Given the description of an element on the screen output the (x, y) to click on. 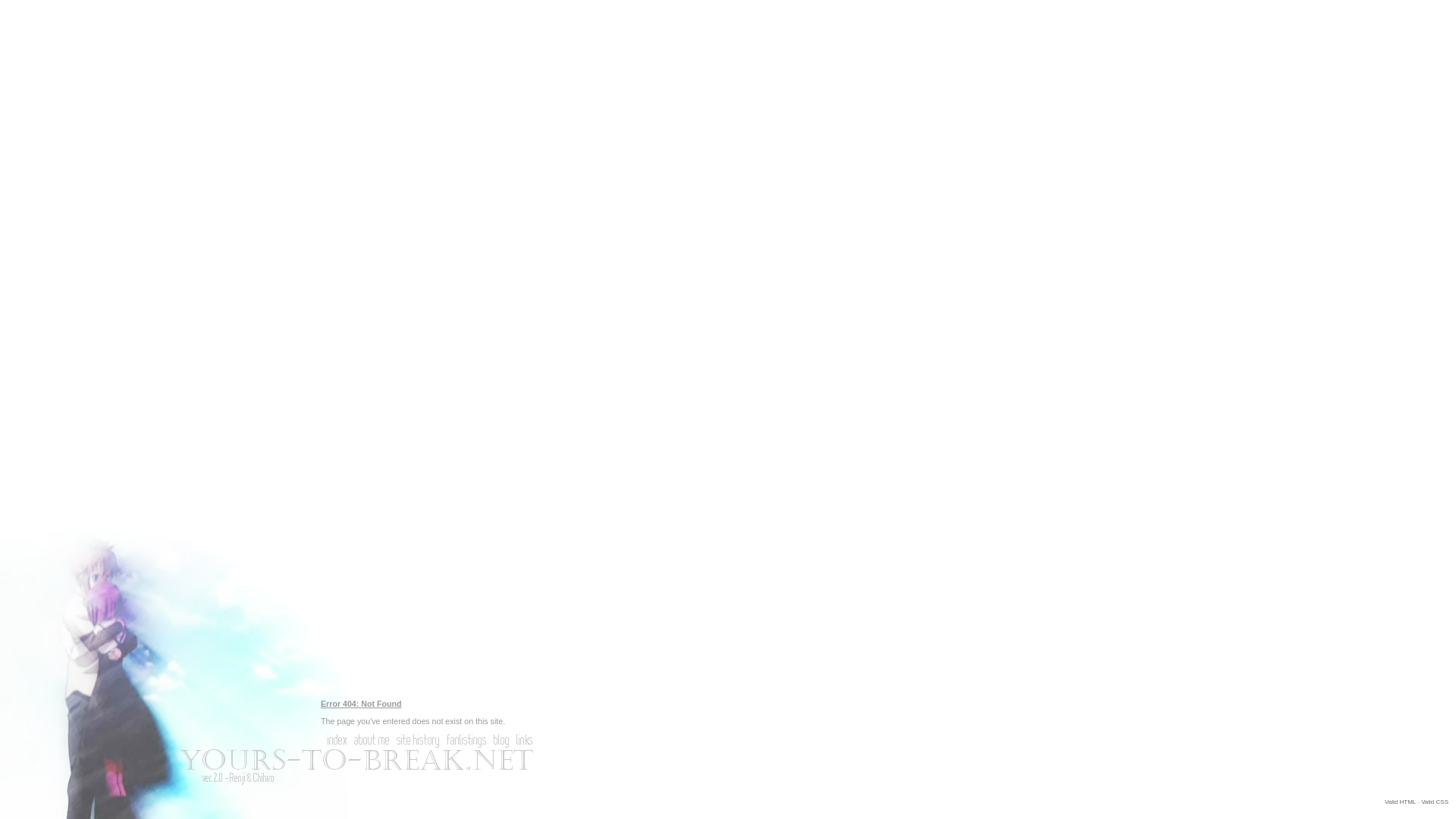
Valid CSS Element type: text (1434, 801)
Valid HTML Element type: text (1399, 801)
